Given the description of an element on the screen output the (x, y) to click on. 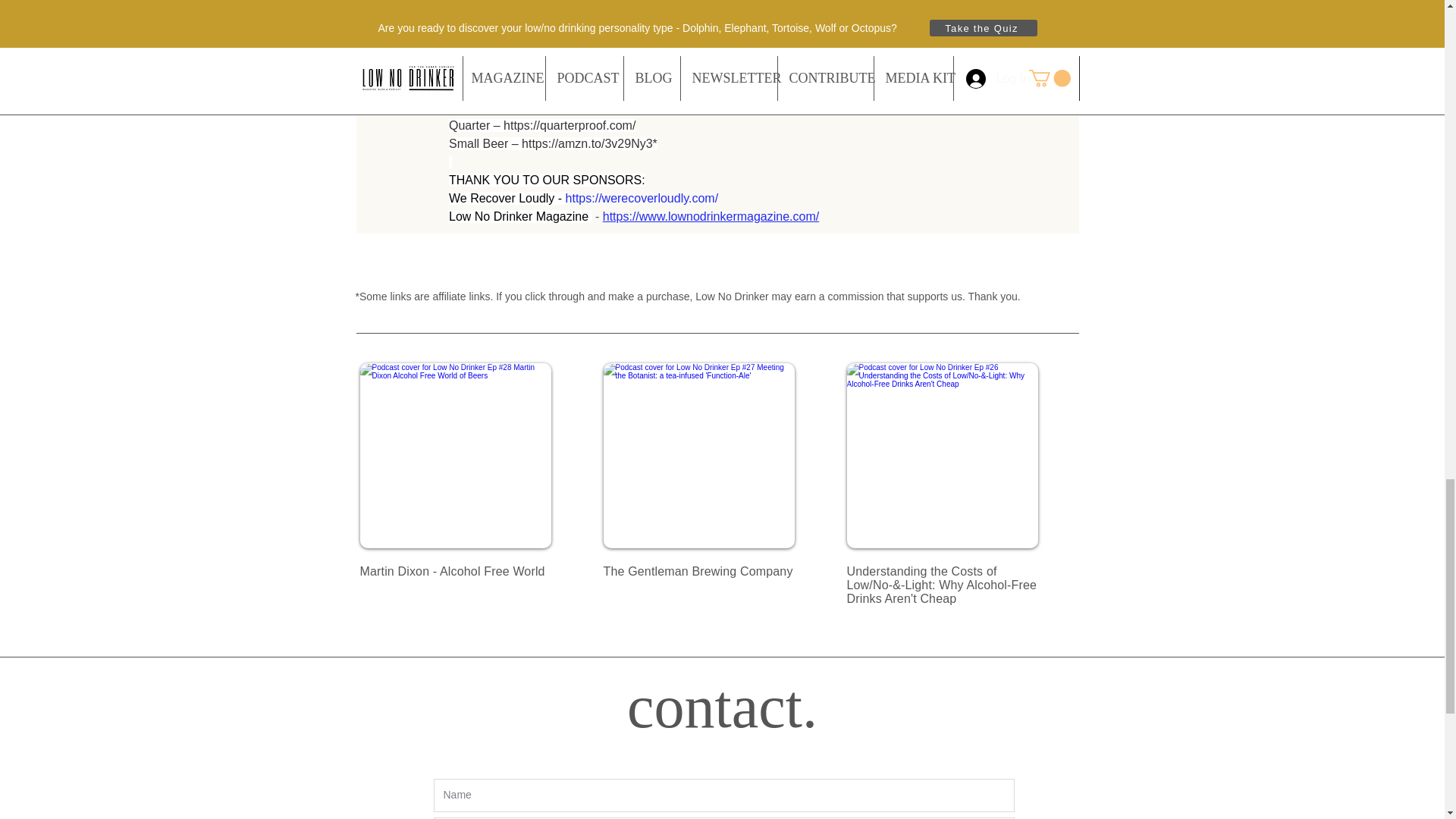
LNDM THUMBNAIL SQUARE - TGBCO.png (699, 455)
Low (459, 215)
LNDM THUMBNAIL SQUARE - martin dixon.png (454, 455)
EXPENSIVE THUMBNAIL SQUARE.png (940, 455)
